Given the description of an element on the screen output the (x, y) to click on. 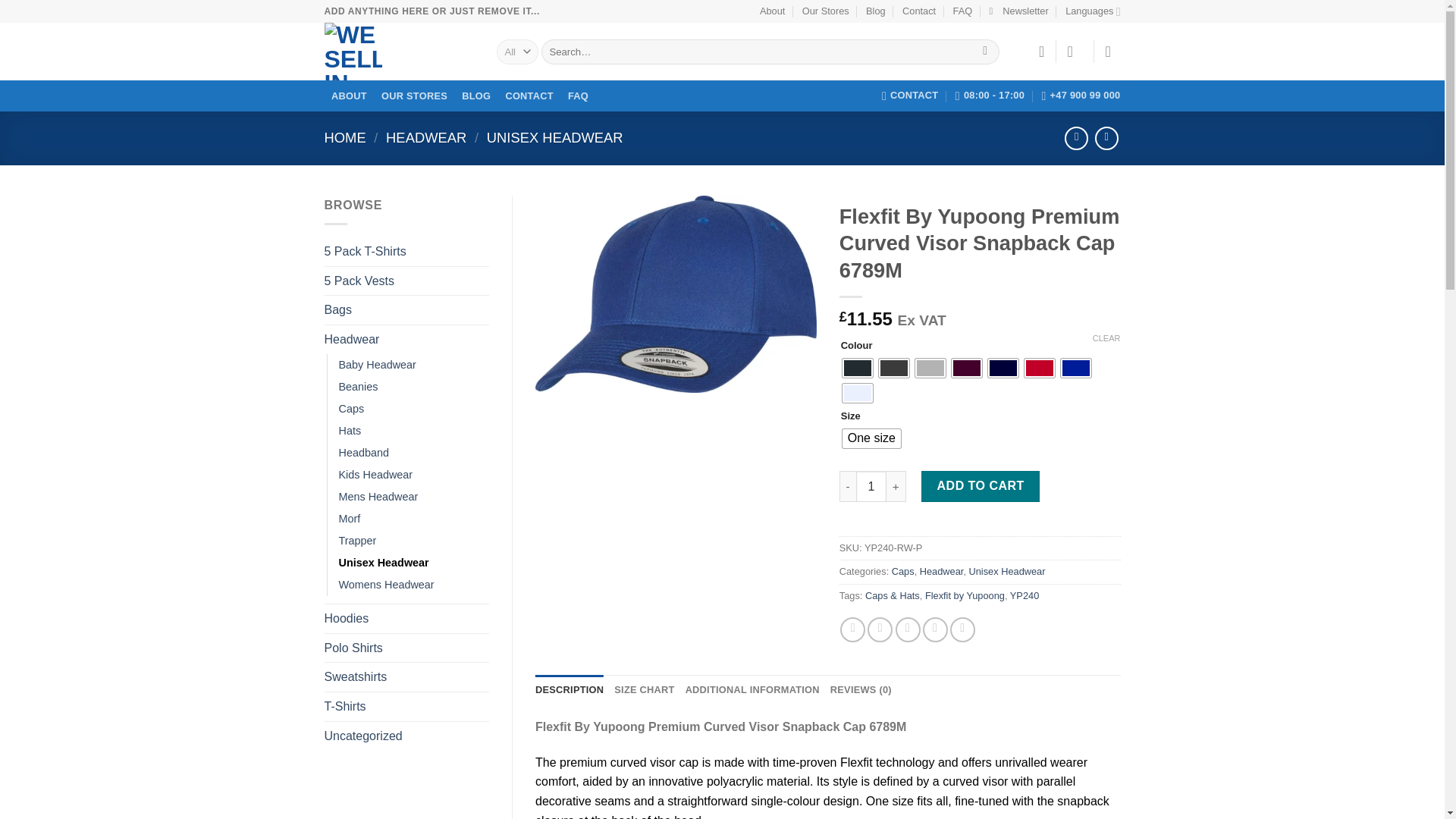
Our Stores (825, 11)
ABOUT (349, 96)
Dark Grey (893, 367)
OUR STORES (414, 96)
08:00 - 17:00 (990, 95)
5 Pack Vests (406, 280)
08:00 - 17:00  (990, 95)
Bags (406, 309)
CONTACT (528, 96)
Newsletter (1018, 11)
5 Pack T-Shirts (406, 251)
HOME (345, 137)
CONTACT (910, 95)
Languages (1092, 11)
Contact (919, 11)
